Given the description of an element on the screen output the (x, y) to click on. 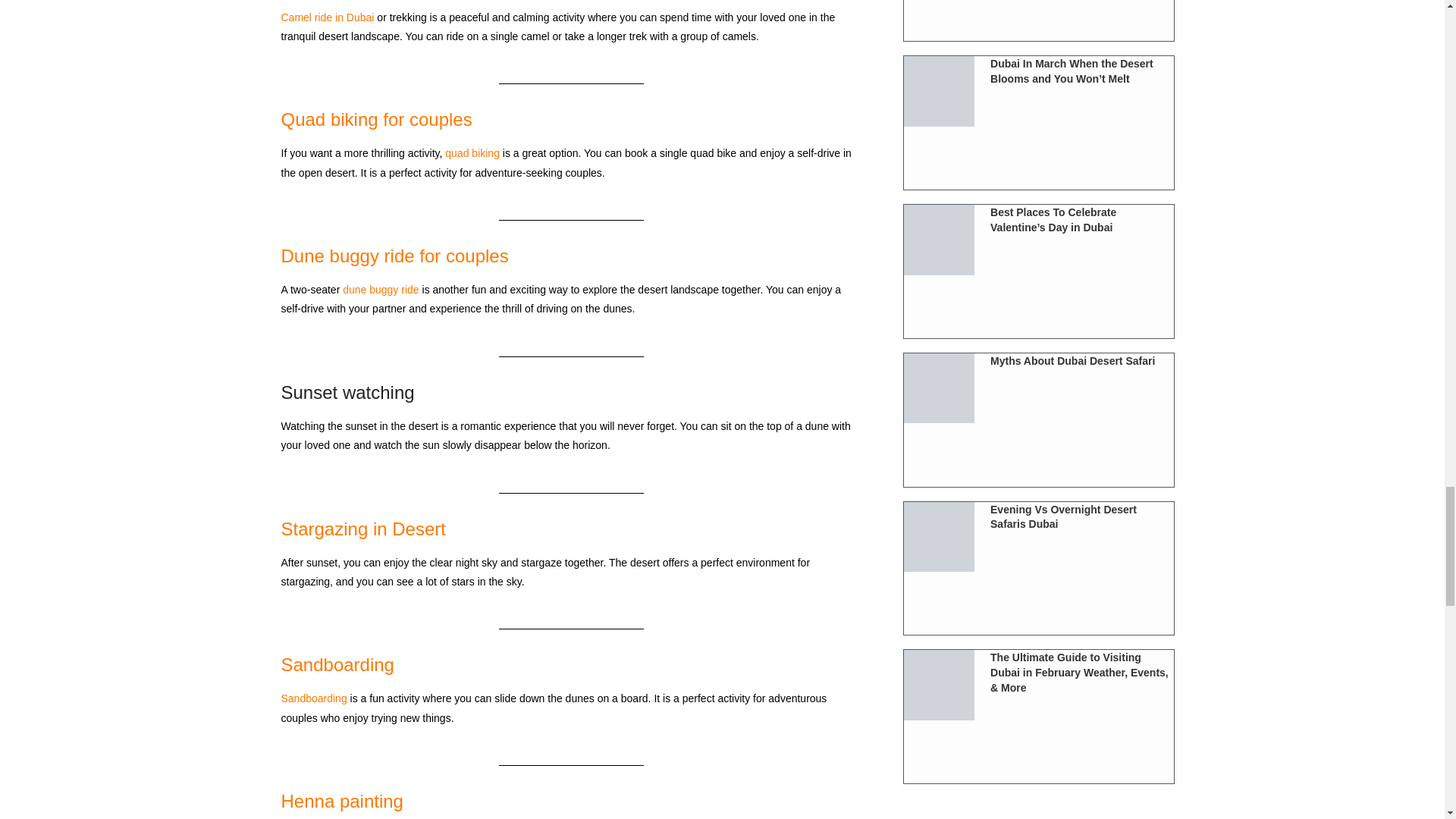
Sandboarding (337, 664)
Camel ride in Dubai (327, 17)
Henna painting (342, 801)
Sandboarding (313, 698)
quad biking (472, 152)
Stargazing in Desert (363, 528)
Quad biking for couples (376, 118)
Dune buggy ride for couples (394, 255)
dune buggy ride (380, 289)
